Given the description of an element on the screen output the (x, y) to click on. 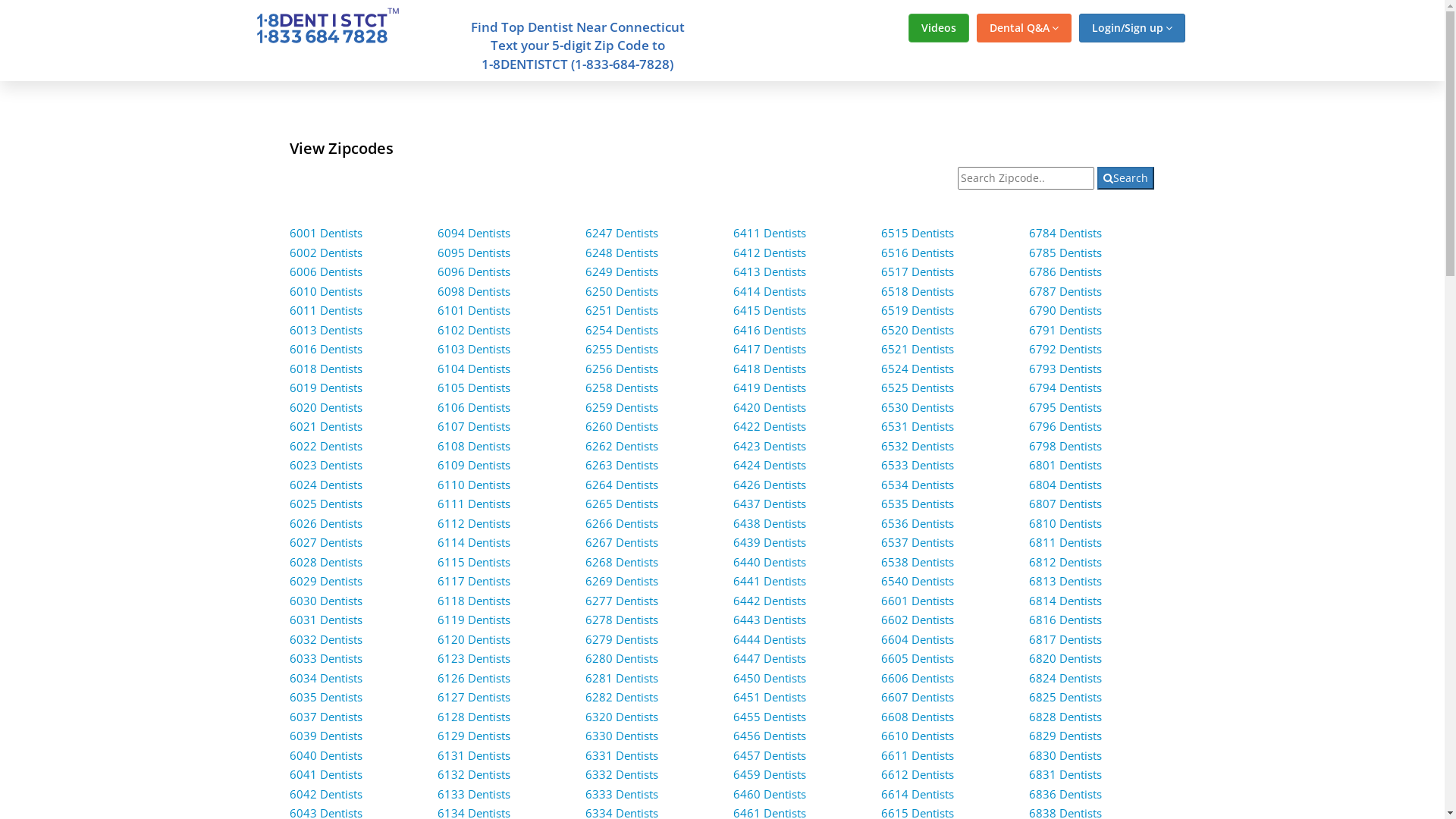
6280 Dentists Element type: text (621, 657)
6519 Dentists Element type: text (917, 309)
6829 Dentists Element type: text (1065, 735)
6264 Dentists Element type: text (621, 484)
6417 Dentists Element type: text (769, 348)
6611 Dentists Element type: text (917, 754)
6032 Dentists Element type: text (325, 638)
6814 Dentists Element type: text (1065, 600)
6816 Dentists Element type: text (1065, 619)
6101 Dentists Element type: text (473, 309)
6254 Dentists Element type: text (621, 329)
6601 Dentists Element type: text (917, 600)
6830 Dentists Element type: text (1065, 754)
6028 Dentists Element type: text (325, 561)
6255 Dentists Element type: text (621, 348)
6104 Dentists Element type: text (473, 368)
6813 Dentists Element type: text (1065, 580)
6022 Dentists Element type: text (325, 445)
6455 Dentists Element type: text (769, 716)
6812 Dentists Element type: text (1065, 561)
6411 Dentists Element type: text (769, 232)
6785 Dentists Element type: text (1065, 252)
6265 Dentists Element type: text (621, 503)
6131 Dentists Element type: text (473, 754)
6320 Dentists Element type: text (621, 716)
6268 Dentists Element type: text (621, 561)
6787 Dentists Element type: text (1065, 290)
6534 Dentists Element type: text (917, 484)
6520 Dentists Element type: text (917, 329)
6438 Dentists Element type: text (769, 522)
6441 Dentists Element type: text (769, 580)
6412 Dentists Element type: text (769, 252)
6606 Dentists Element type: text (917, 677)
6439 Dentists Element type: text (769, 541)
6259 Dentists Element type: text (621, 406)
6267 Dentists Element type: text (621, 541)
6831 Dentists Element type: text (1065, 773)
6030 Dentists Element type: text (325, 600)
6418 Dentists Element type: text (769, 368)
6537 Dentists Element type: text (917, 541)
6002 Dentists Element type: text (325, 252)
6119 Dentists Element type: text (473, 619)
6798 Dentists Element type: text (1065, 445)
6279 Dentists Element type: text (621, 638)
6531 Dentists Element type: text (917, 425)
6784 Dentists Element type: text (1065, 232)
6039 Dentists Element type: text (325, 735)
6037 Dentists Element type: text (325, 716)
6013 Dentists Element type: text (325, 329)
6035 Dentists Element type: text (325, 696)
6536 Dentists Element type: text (917, 522)
6006 Dentists Element type: text (325, 271)
6103 Dentists Element type: text (473, 348)
6442 Dentists Element type: text (769, 600)
6127 Dentists Element type: text (473, 696)
6023 Dentists Element type: text (325, 464)
6001 Dentists Element type: text (325, 232)
6804 Dentists Element type: text (1065, 484)
Login/Sign up Element type: text (1131, 27)
6414 Dentists Element type: text (769, 290)
6040 Dentists Element type: text (325, 754)
6795 Dentists Element type: text (1065, 406)
6034 Dentists Element type: text (325, 677)
6426 Dentists Element type: text (769, 484)
6811 Dentists Element type: text (1065, 541)
6444 Dentists Element type: text (769, 638)
6825 Dentists Element type: text (1065, 696)
6258 Dentists Element type: text (621, 387)
6416 Dentists Element type: text (769, 329)
6263 Dentists Element type: text (621, 464)
6331 Dentists Element type: text (621, 754)
6420 Dentists Element type: text (769, 406)
6016 Dentists Element type: text (325, 348)
6031 Dentists Element type: text (325, 619)
6525 Dentists Element type: text (917, 387)
6540 Dentists Element type: text (917, 580)
6020 Dentists Element type: text (325, 406)
6256 Dentists Element type: text (621, 368)
6422 Dentists Element type: text (769, 425)
6533 Dentists Element type: text (917, 464)
6260 Dentists Element type: text (621, 425)
6281 Dentists Element type: text (621, 677)
6602 Dentists Element type: text (917, 619)
6095 Dentists Element type: text (473, 252)
6029 Dentists Element type: text (325, 580)
6786 Dentists Element type: text (1065, 271)
6440 Dentists Element type: text (769, 561)
6248 Dentists Element type: text (621, 252)
6457 Dentists Element type: text (769, 754)
6118 Dentists Element type: text (473, 600)
6247 Dentists Element type: text (621, 232)
Search Element type: text (1125, 177)
6266 Dentists Element type: text (621, 522)
6810 Dentists Element type: text (1065, 522)
6820 Dentists Element type: text (1065, 657)
6532 Dentists Element type: text (917, 445)
6535 Dentists Element type: text (917, 503)
6133 Dentists Element type: text (473, 793)
6824 Dentists Element type: text (1065, 677)
6024 Dentists Element type: text (325, 484)
6110 Dentists Element type: text (473, 484)
6120 Dentists Element type: text (473, 638)
6033 Dentists Element type: text (325, 657)
6423 Dentists Element type: text (769, 445)
6424 Dentists Element type: text (769, 464)
6793 Dentists Element type: text (1065, 368)
6447 Dentists Element type: text (769, 657)
6277 Dentists Element type: text (621, 600)
6443 Dentists Element type: text (769, 619)
6108 Dentists Element type: text (473, 445)
6419 Dentists Element type: text (769, 387)
6836 Dentists Element type: text (1065, 793)
6530 Dentists Element type: text (917, 406)
6098 Dentists Element type: text (473, 290)
6515 Dentists Element type: text (917, 232)
6278 Dentists Element type: text (621, 619)
6792 Dentists Element type: text (1065, 348)
6607 Dentists Element type: text (917, 696)
6129 Dentists Element type: text (473, 735)
6330 Dentists Element type: text (621, 735)
6021 Dentists Element type: text (325, 425)
6332 Dentists Element type: text (621, 773)
Videos Element type: text (938, 27)
6790 Dentists Element type: text (1065, 309)
6282 Dentists Element type: text (621, 696)
6010 Dentists Element type: text (325, 290)
6608 Dentists Element type: text (917, 716)
6128 Dentists Element type: text (473, 716)
6105 Dentists Element type: text (473, 387)
6117 Dentists Element type: text (473, 580)
6018 Dentists Element type: text (325, 368)
6102 Dentists Element type: text (473, 329)
6456 Dentists Element type: text (769, 735)
6794 Dentists Element type: text (1065, 387)
6605 Dentists Element type: text (917, 657)
6796 Dentists Element type: text (1065, 425)
6114 Dentists Element type: text (473, 541)
6250 Dentists Element type: text (621, 290)
6517 Dentists Element type: text (917, 271)
6459 Dentists Element type: text (769, 773)
6451 Dentists Element type: text (769, 696)
6437 Dentists Element type: text (769, 503)
6524 Dentists Element type: text (917, 368)
6027 Dentists Element type: text (325, 541)
6791 Dentists Element type: text (1065, 329)
6333 Dentists Element type: text (621, 793)
6025 Dentists Element type: text (325, 503)
6518 Dentists Element type: text (917, 290)
6801 Dentists Element type: text (1065, 464)
6612 Dentists Element type: text (917, 773)
6817 Dentists Element type: text (1065, 638)
6112 Dentists Element type: text (473, 522)
6415 Dentists Element type: text (769, 309)
6123 Dentists Element type: text (473, 657)
6096 Dentists Element type: text (473, 271)
6249 Dentists Element type: text (621, 271)
6538 Dentists Element type: text (917, 561)
6111 Dentists Element type: text (473, 503)
6107 Dentists Element type: text (473, 425)
6460 Dentists Element type: text (769, 793)
6109 Dentists Element type: text (473, 464)
6610 Dentists Element type: text (917, 735)
6521 Dentists Element type: text (917, 348)
6026 Dentists Element type: text (325, 522)
6807 Dentists Element type: text (1065, 503)
6269 Dentists Element type: text (621, 580)
6251 Dentists Element type: text (621, 309)
6011 Dentists Element type: text (325, 309)
6042 Dentists Element type: text (325, 793)
6262 Dentists Element type: text (621, 445)
6115 Dentists Element type: text (473, 561)
6126 Dentists Element type: text (473, 677)
6828 Dentists Element type: text (1065, 716)
6106 Dentists Element type: text (473, 406)
6413 Dentists Element type: text (769, 271)
6516 Dentists Element type: text (917, 252)
6019 Dentists Element type: text (325, 387)
6450 Dentists Element type: text (769, 677)
6041 Dentists Element type: text (325, 773)
6614 Dentists Element type: text (917, 793)
6132 Dentists Element type: text (473, 773)
6094 Dentists Element type: text (473, 232)
Dental Q&A Element type: text (1023, 27)
6604 Dentists Element type: text (917, 638)
